Given the description of an element on the screen output the (x, y) to click on. 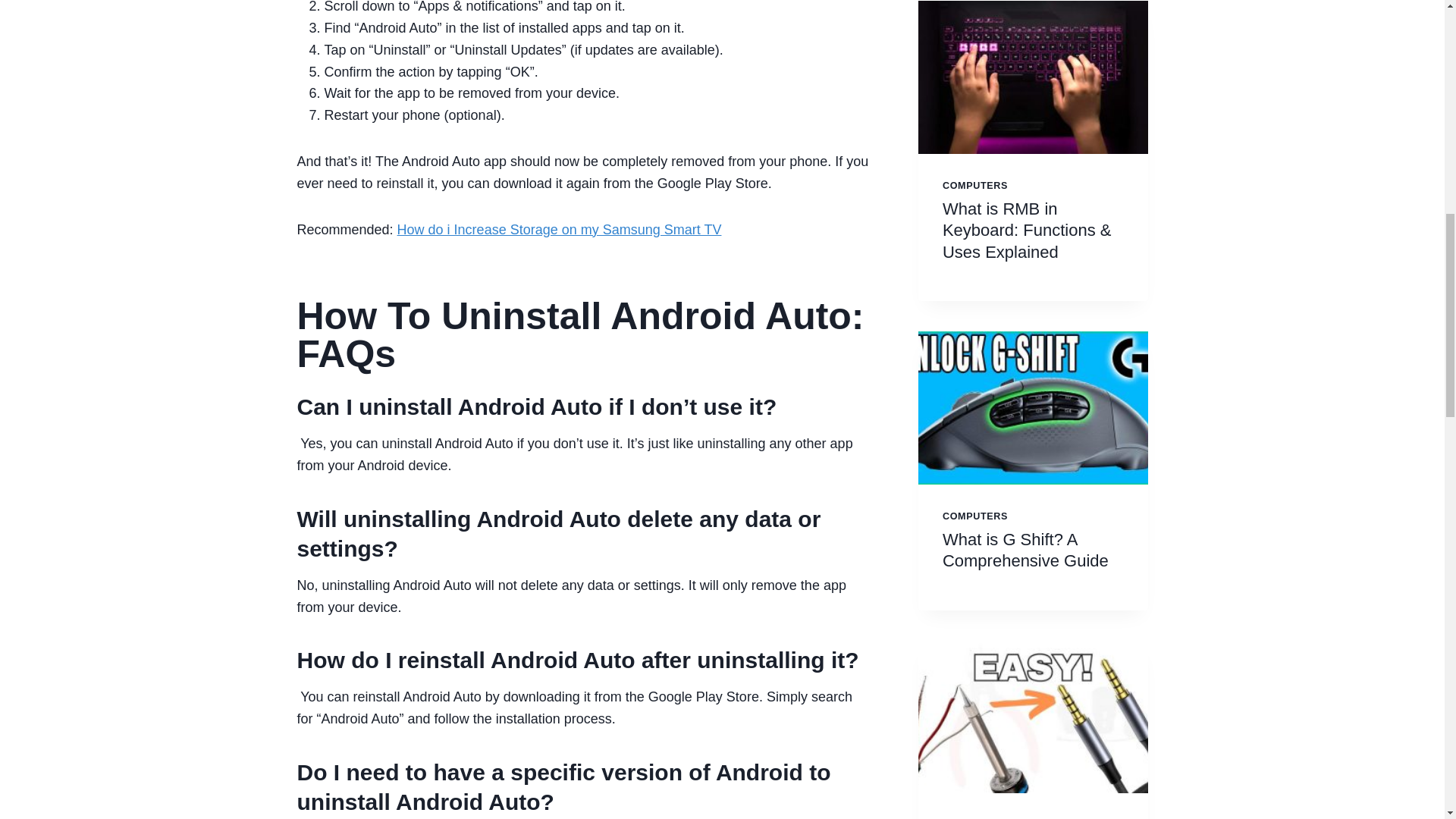
How do i Increase Storage on my Samsung Smart TV (559, 228)
